Given the description of an element on the screen output the (x, y) to click on. 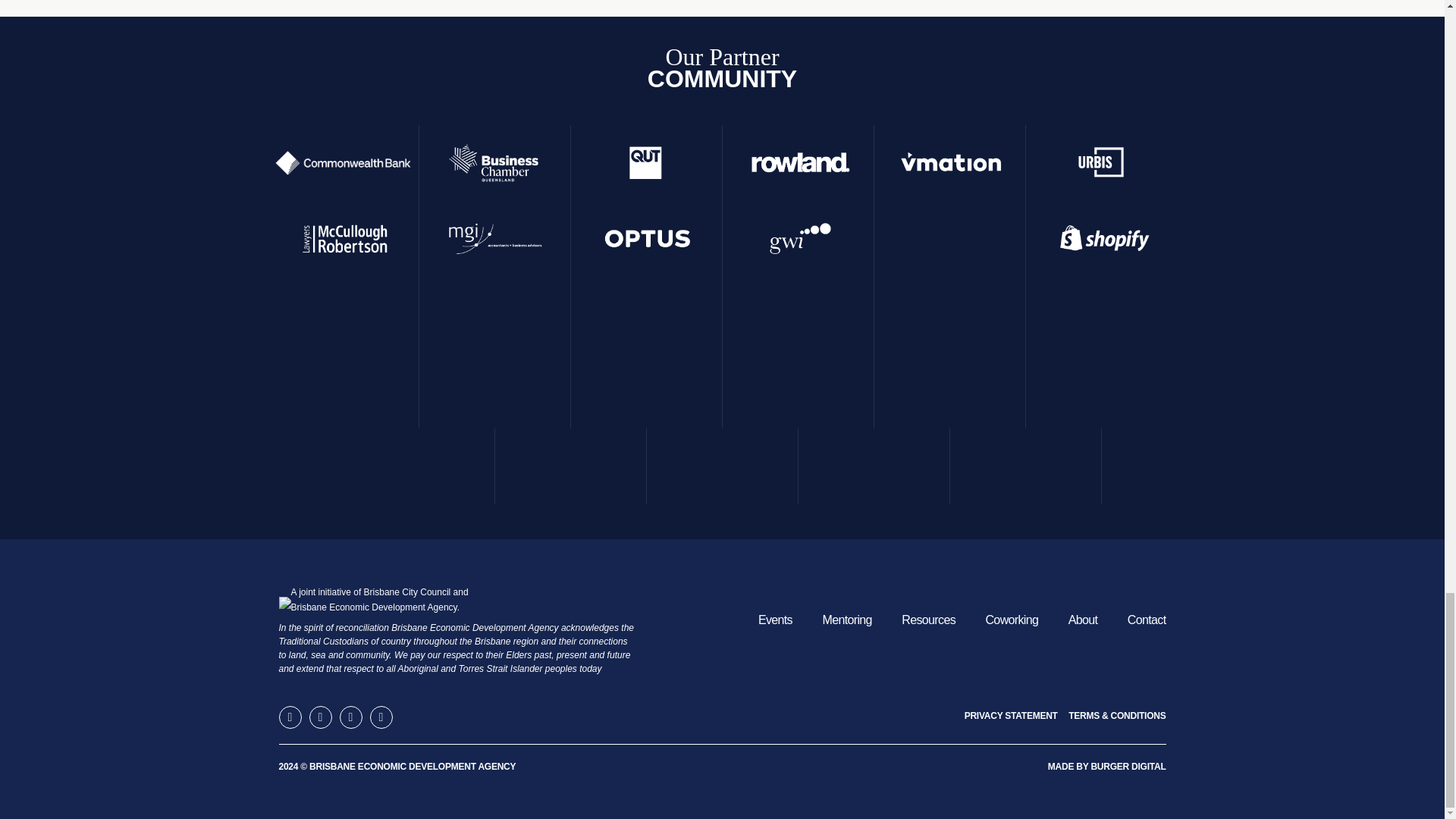
Mentoring (846, 619)
Events (775, 619)
About (1082, 619)
About (1082, 619)
Contact (1146, 619)
Mentoring (846, 619)
Events (775, 619)
Coworking (1011, 619)
Coworking (1011, 619)
Resources (928, 619)
